Given the description of an element on the screen output the (x, y) to click on. 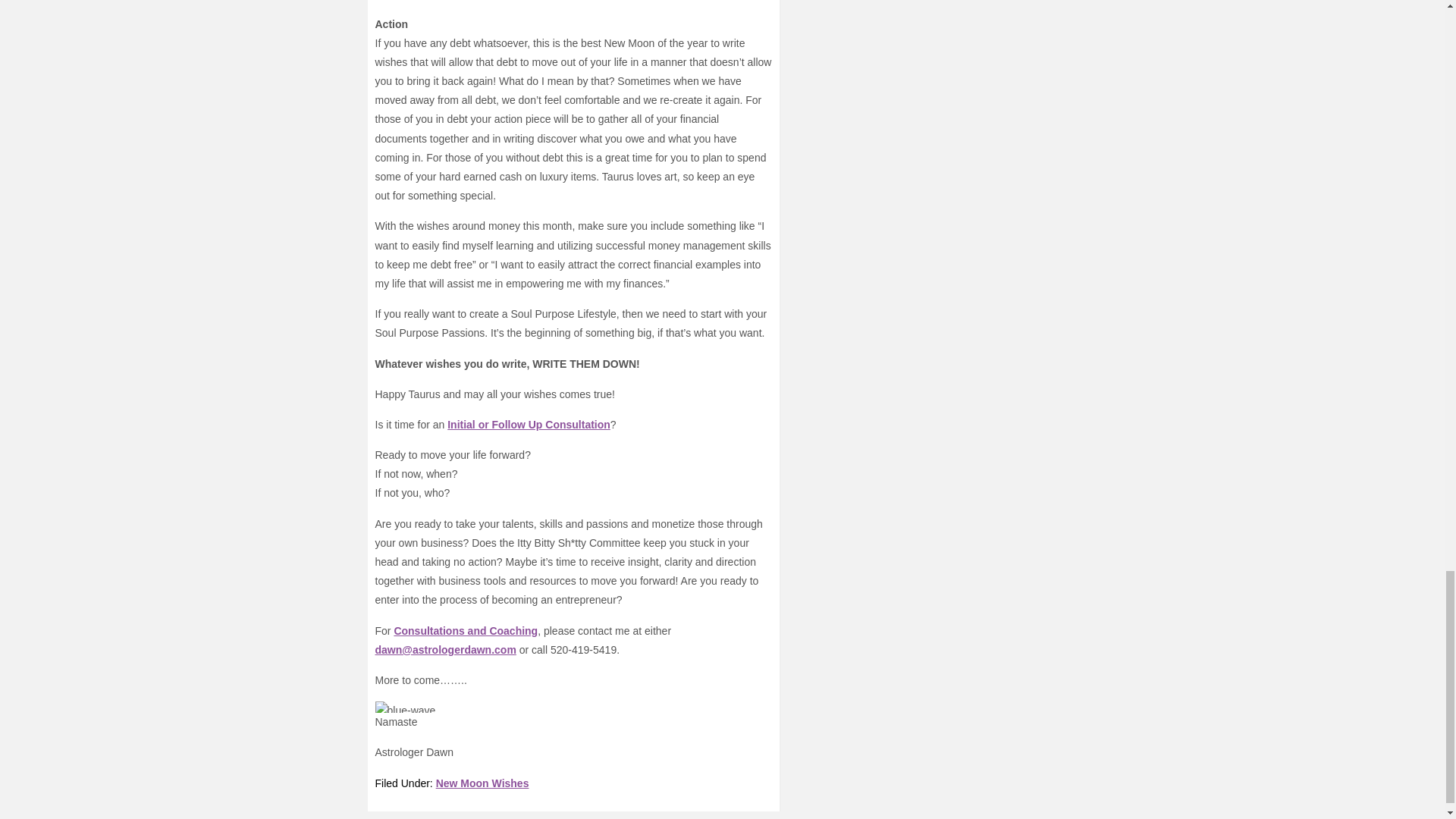
Initial or Follow Up Consultation (528, 424)
Consultations and Coaching (465, 630)
New Moon Wishes (482, 783)
